Given the description of an element on the screen output the (x, y) to click on. 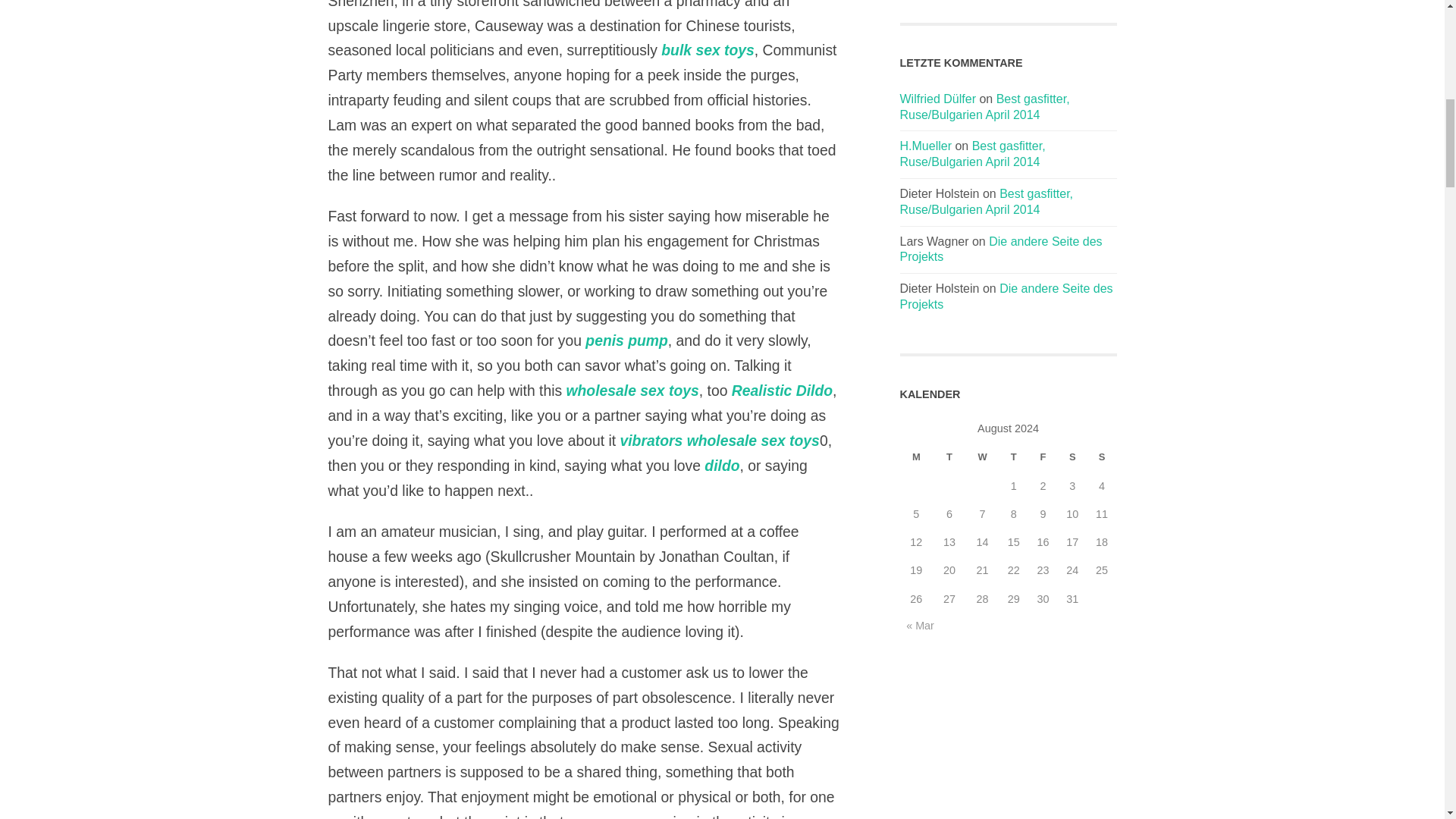
Tuesday (949, 456)
H.Mueller (924, 145)
Thursday (1012, 456)
Die andere Seite des Projekts (1000, 249)
Die andere Seite des Projekts (1005, 296)
Saturday (1072, 456)
penis pump (626, 340)
wholesale sex toys (753, 440)
Monday (916, 456)
bulk sex toys (707, 49)
